Given the description of an element on the screen output the (x, y) to click on. 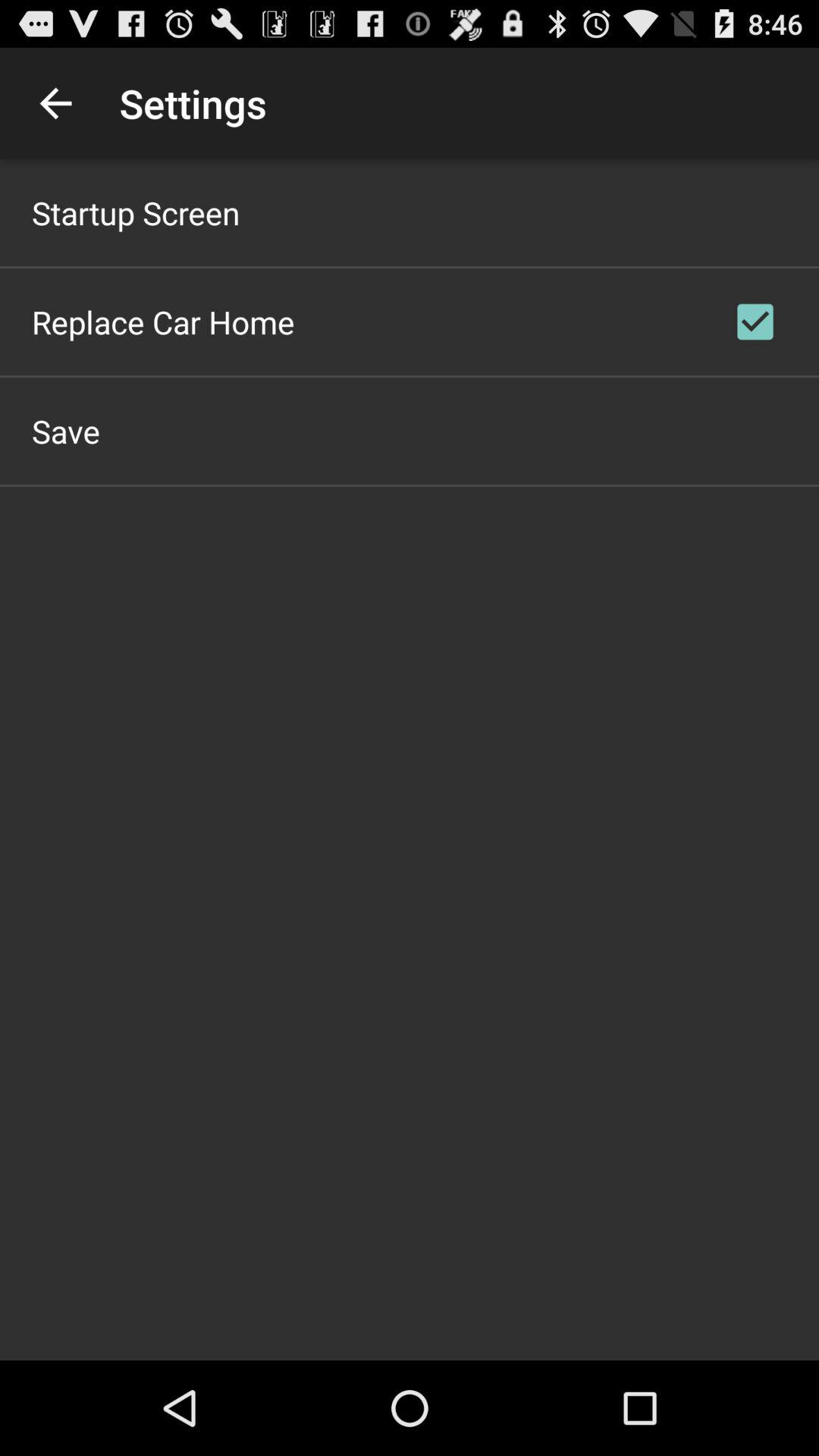
launch app above replace car home item (135, 212)
